Given the description of an element on the screen output the (x, y) to click on. 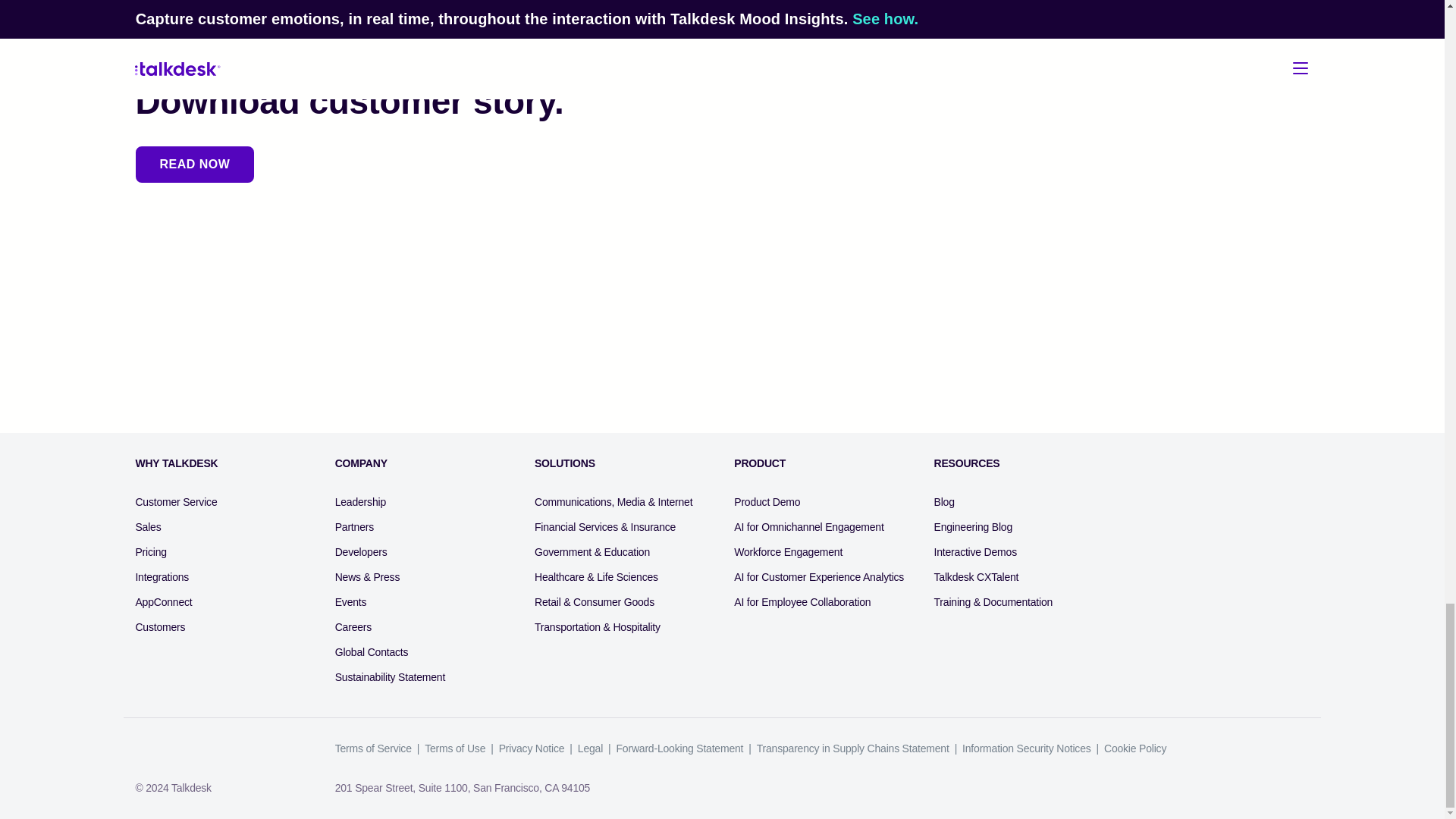
Events (350, 602)
AppConnect (163, 602)
Integrations (162, 577)
Sustainability Statement (389, 677)
Pricing (150, 552)
READ NOW (194, 164)
Partners (354, 527)
Customer Service (175, 502)
COMPANY (360, 463)
WHY TALKDESK (175, 463)
